Given the description of an element on the screen output the (x, y) to click on. 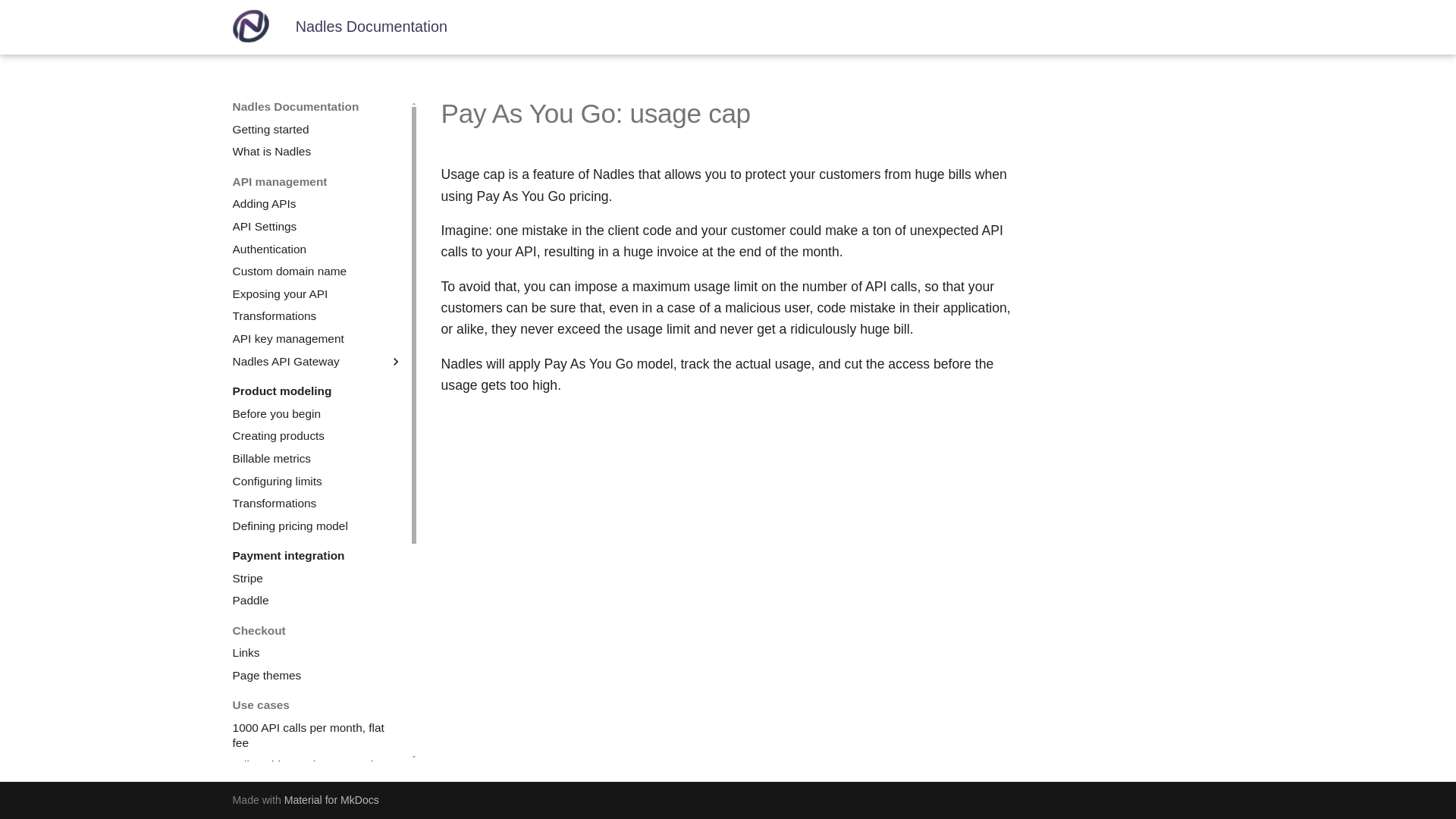
Custom domain name (317, 271)
Transformations (317, 503)
API Settings (317, 226)
Paddle (317, 600)
Page themes (317, 675)
Transformations (317, 315)
API key management (317, 338)
1000 API calls per month, flat fee (317, 735)
Stripe (317, 578)
Product modeling (317, 391)
